Given the description of an element on the screen output the (x, y) to click on. 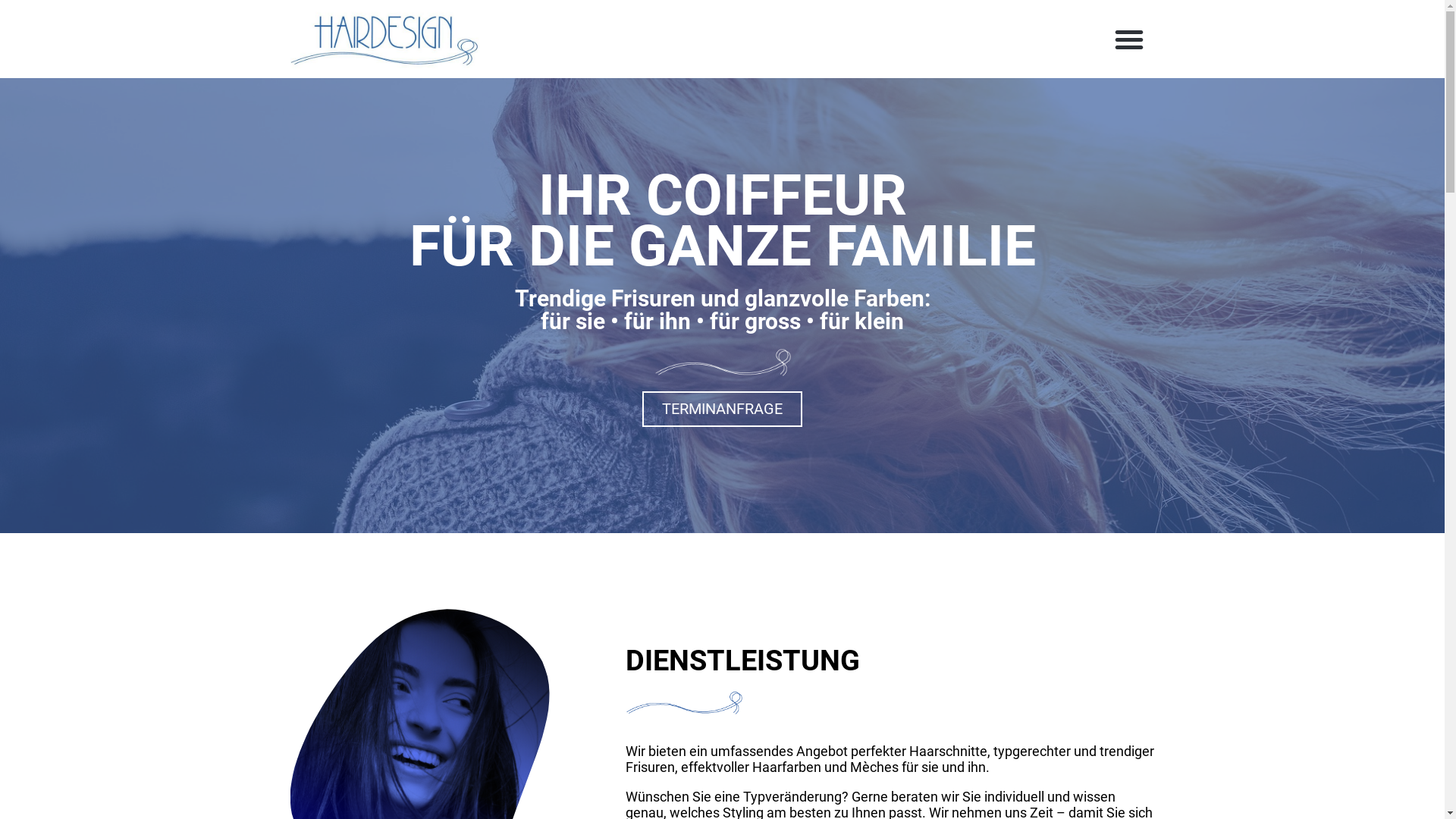
TERMINANFRAGE Element type: text (722, 409)
